Given the description of an element on the screen output the (x, y) to click on. 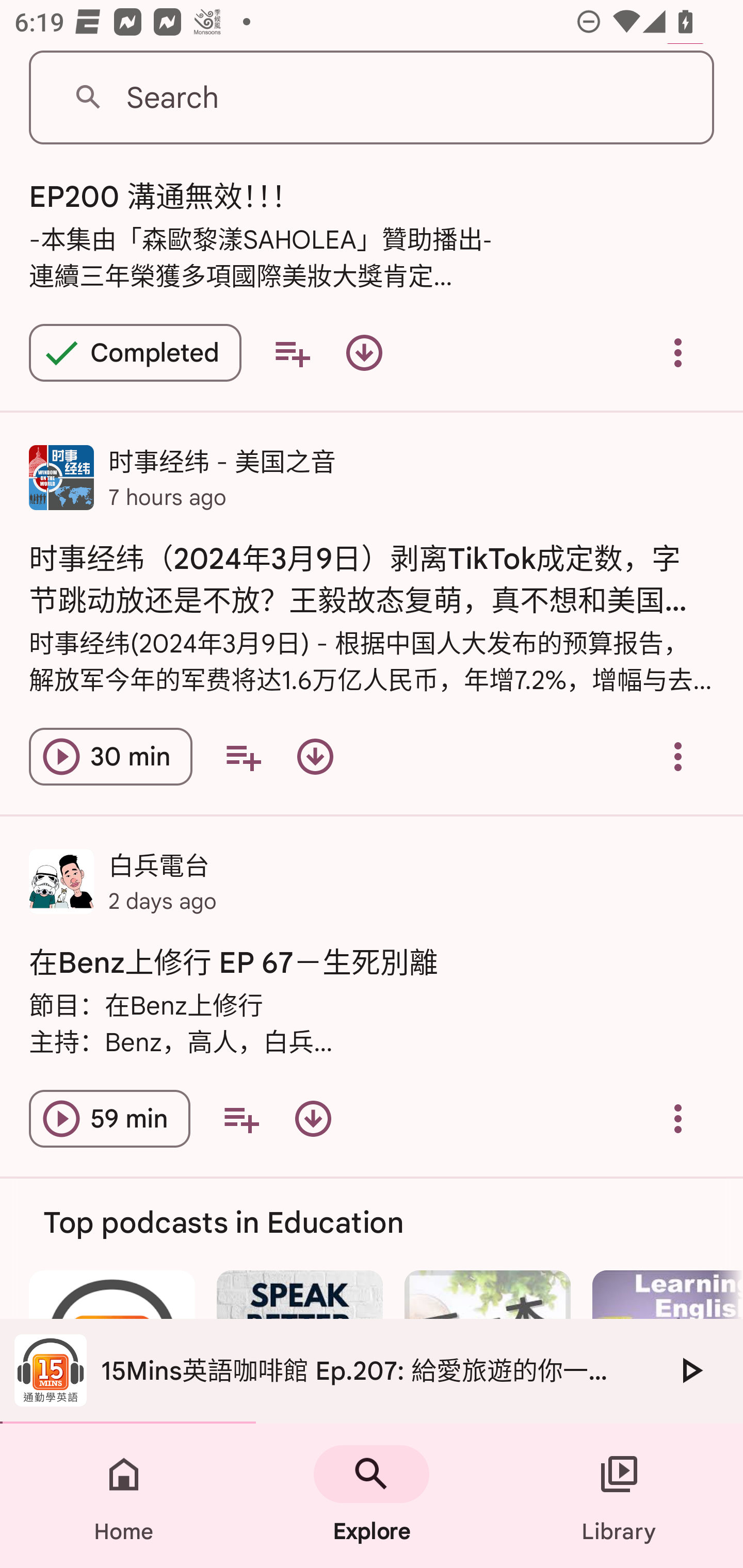
Search (371, 97)
Play episode EP200 溝通無效！！！ Completed (134, 352)
Add to your queue (291, 352)
Download episode (364, 352)
Overflow menu (677, 352)
Add to your queue (242, 756)
Download episode (315, 756)
Overflow menu (677, 756)
Play episode 在Benz上修行 EP 67－生死別離 59 min (109, 1118)
Add to your queue (241, 1118)
Download episode (313, 1118)
Overflow menu (677, 1118)
Play (690, 1370)
Home (123, 1495)
Library (619, 1495)
